Given the description of an element on the screen output the (x, y) to click on. 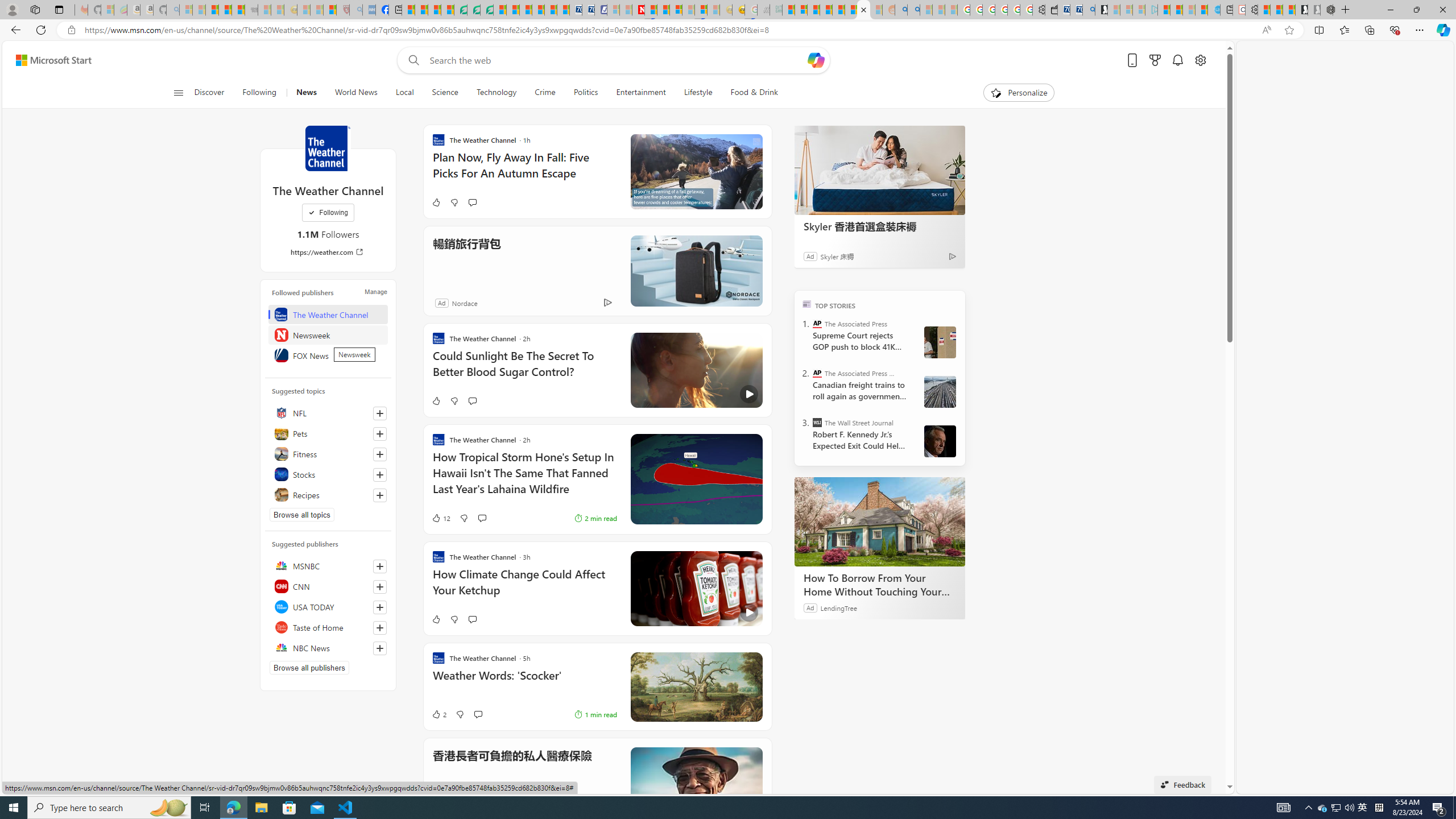
12 Like (440, 517)
Plan Now, Fly Away In Fall: Five Picks For An Autumn Escape (524, 171)
The Associated Press (816, 323)
